Given the description of an element on the screen output the (x, y) to click on. 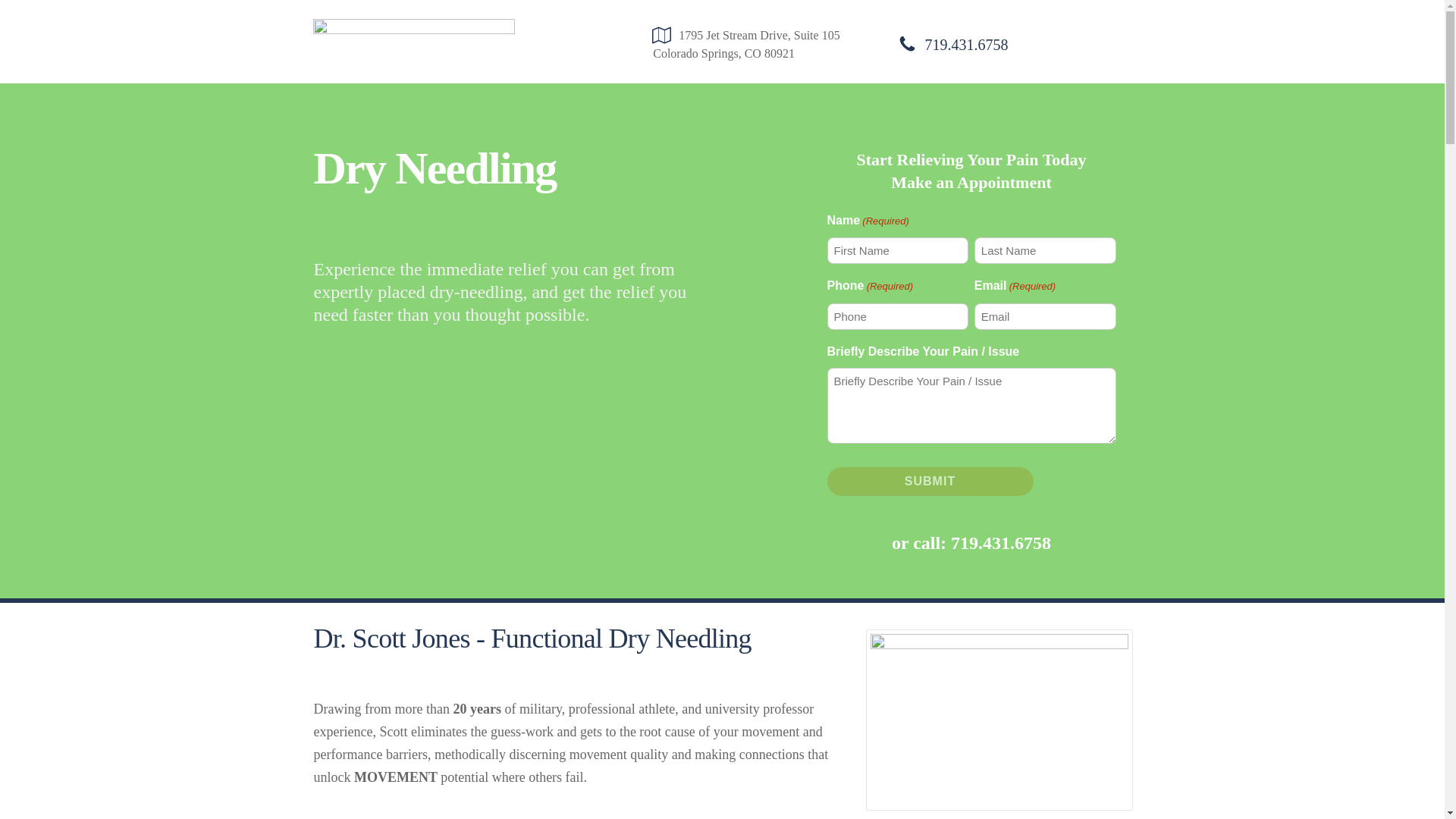
Submit (930, 481)
Submit (930, 481)
719.431.6758 (1000, 542)
719.431.6758 (965, 44)
